Given the description of an element on the screen output the (x, y) to click on. 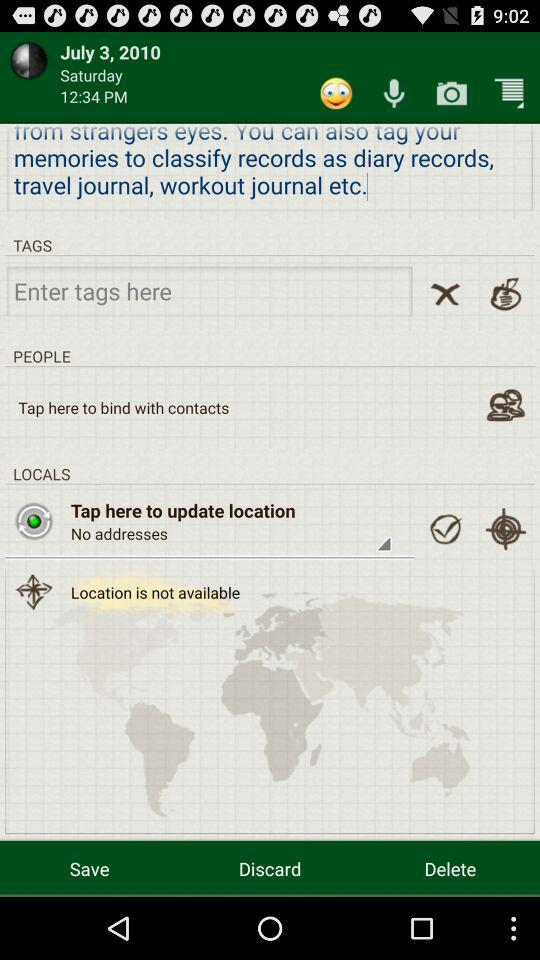
go to current location (505, 529)
